Given the description of an element on the screen output the (x, y) to click on. 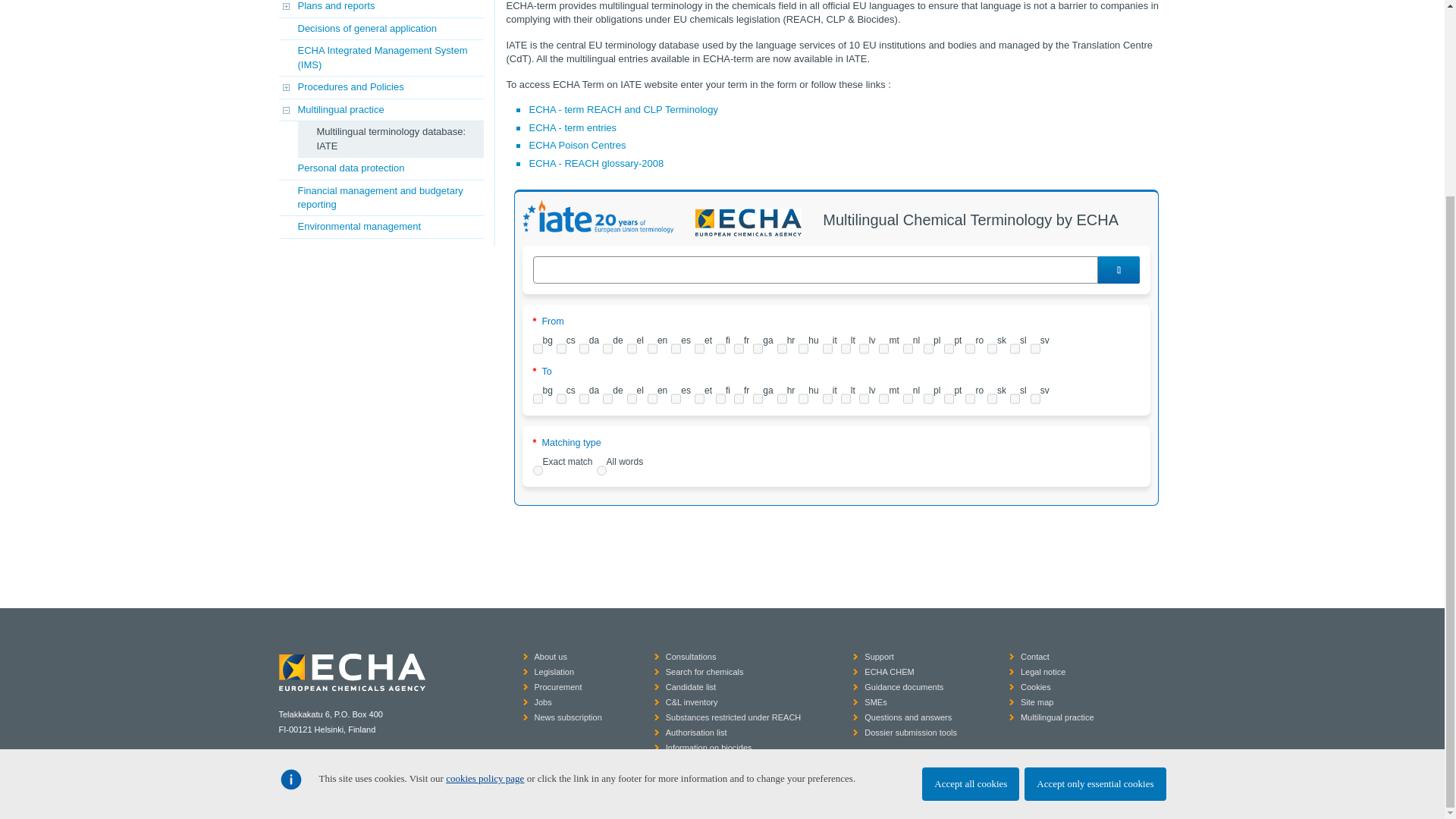
ga (757, 348)
cookies policy page (484, 530)
de (607, 348)
da (584, 348)
es (676, 348)
fr (738, 348)
it (827, 348)
Accept all cookies (970, 535)
et (699, 348)
bg (536, 348)
cs (561, 348)
Accept only essential cookies (1095, 535)
en (652, 348)
fi (720, 348)
lt (845, 348)
